Given the description of an element on the screen output the (x, y) to click on. 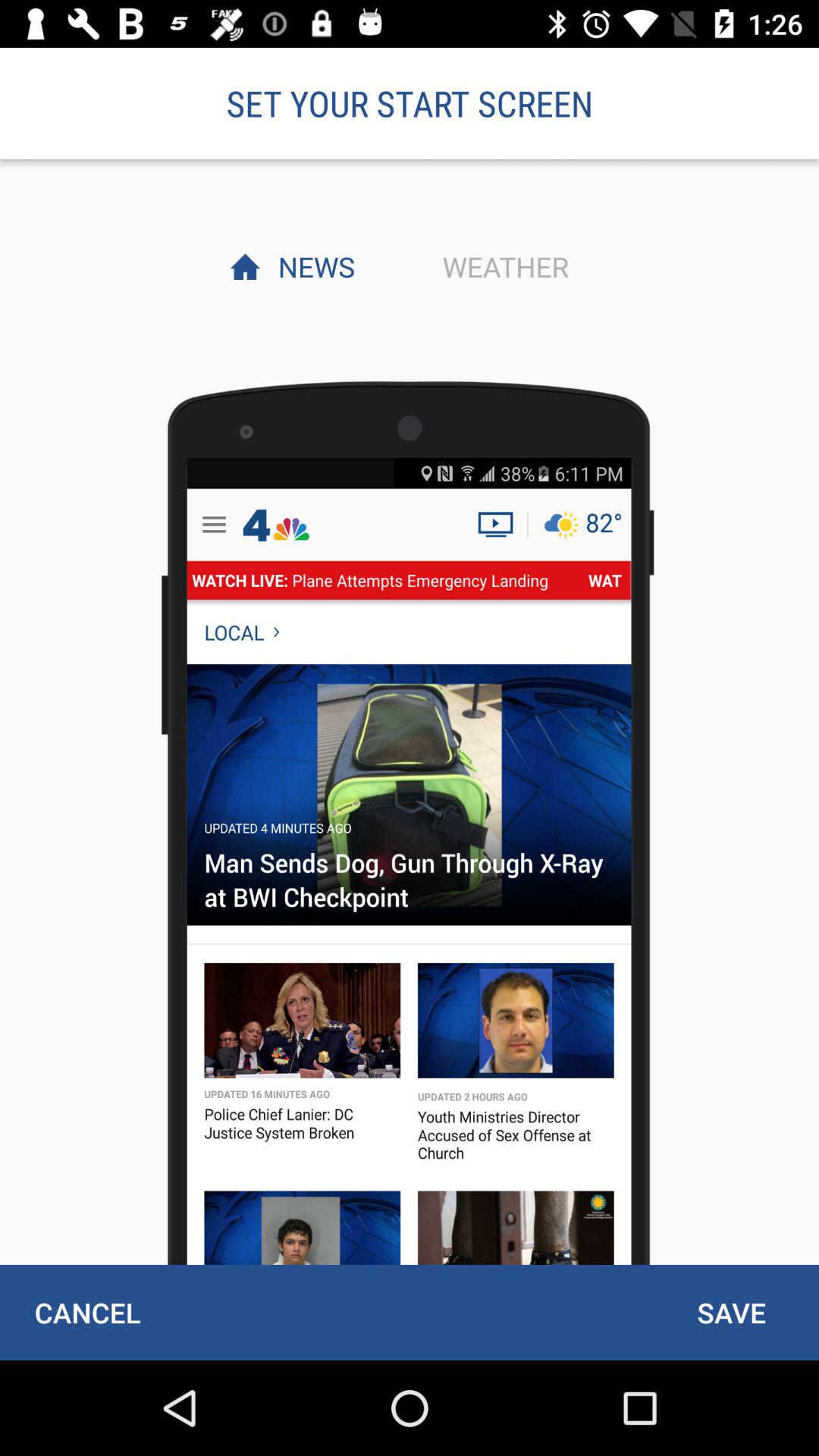
press the icon to the left of the save icon (87, 1312)
